Given the description of an element on the screen output the (x, y) to click on. 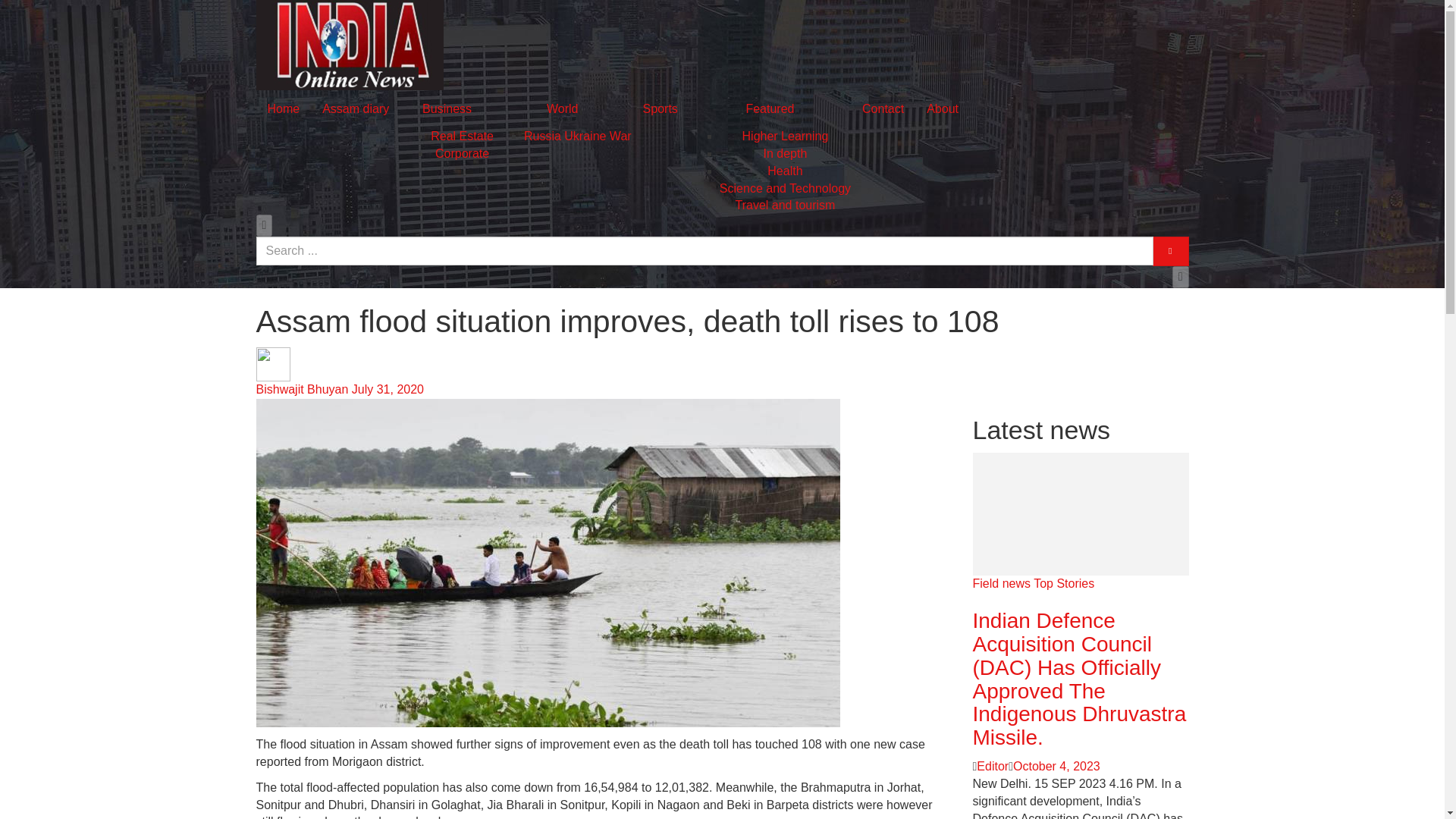
World (562, 108)
Home (283, 108)
In depth (785, 153)
Contact (882, 108)
About (942, 108)
Higher Learning (785, 135)
Sports (659, 108)
Russia Ukraine War (577, 135)
Business (446, 108)
Science and Technology (784, 187)
Real Estate (461, 135)
Health (784, 170)
Assam diary (355, 108)
Featured (769, 108)
Corporate (462, 153)
